Given the description of an element on the screen output the (x, y) to click on. 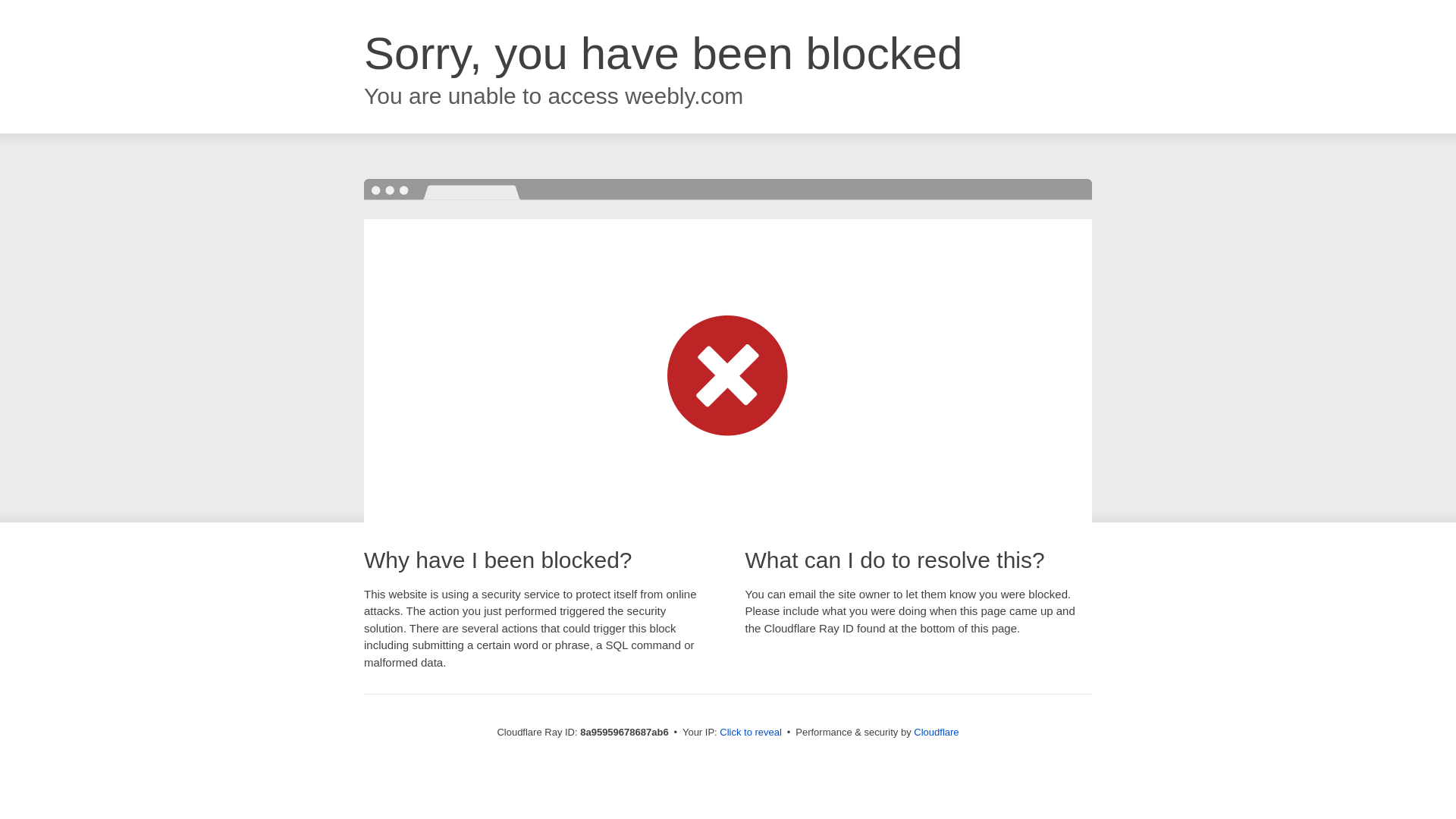
Cloudflare (936, 731)
Click to reveal (750, 732)
